Given the description of an element on the screen output the (x, y) to click on. 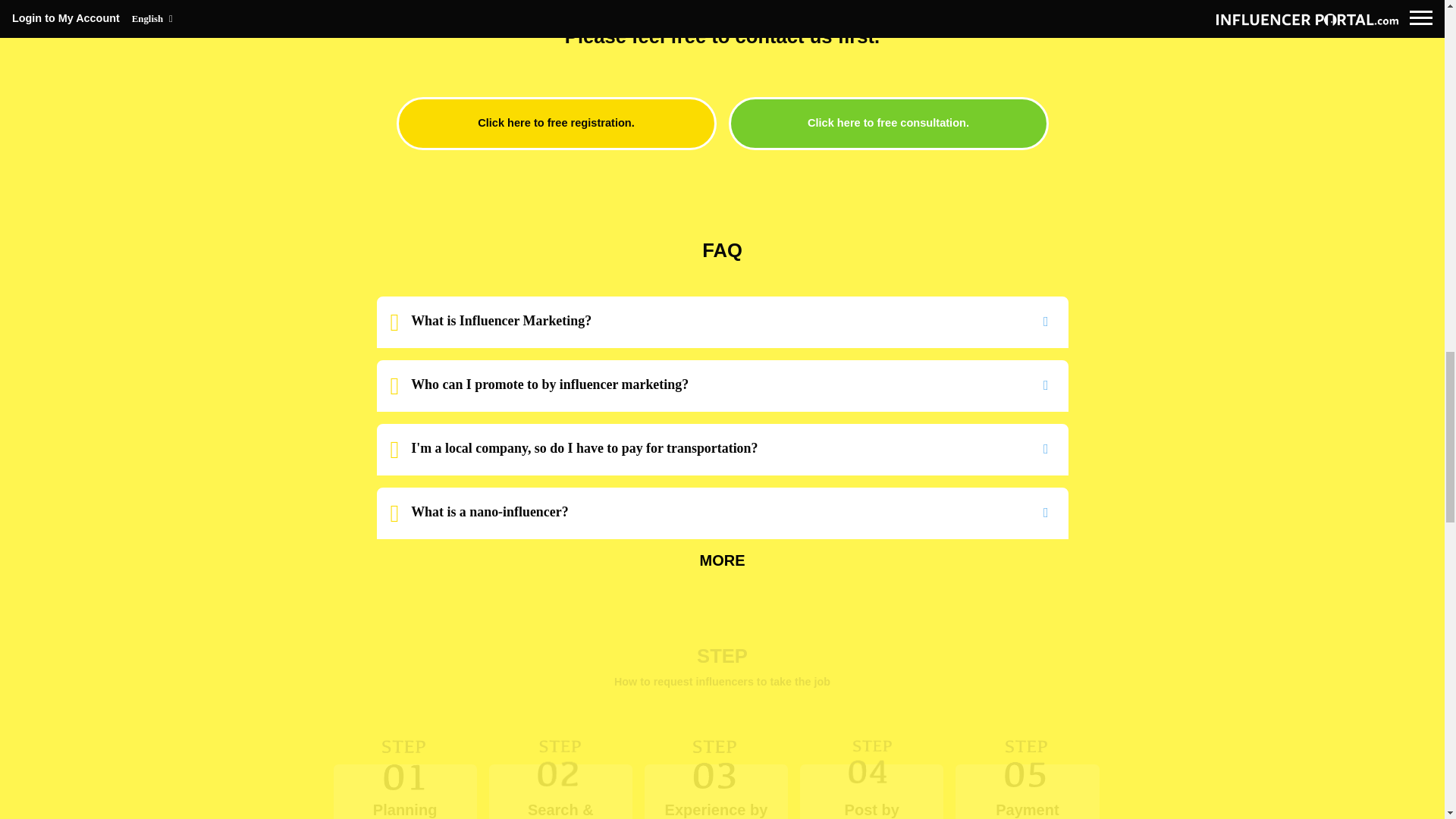
MORE (721, 560)
Click here to free consultation. (888, 123)
Click here to free registration. (556, 123)
